Given the description of an element on the screen output the (x, y) to click on. 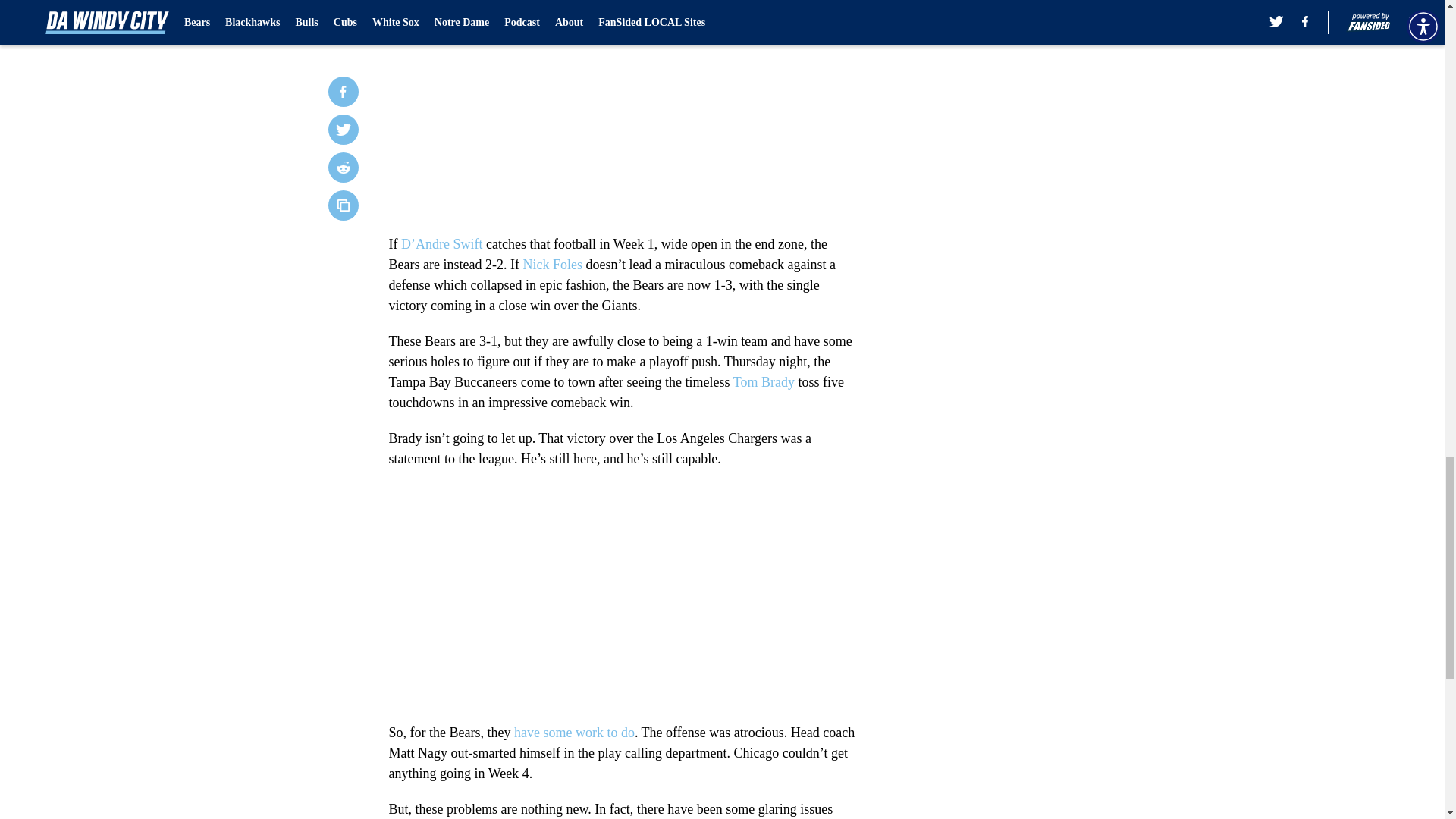
Tom Brady (763, 381)
Nick Foles (552, 264)
have some work to do (573, 732)
